Given the description of an element on the screen output the (x, y) to click on. 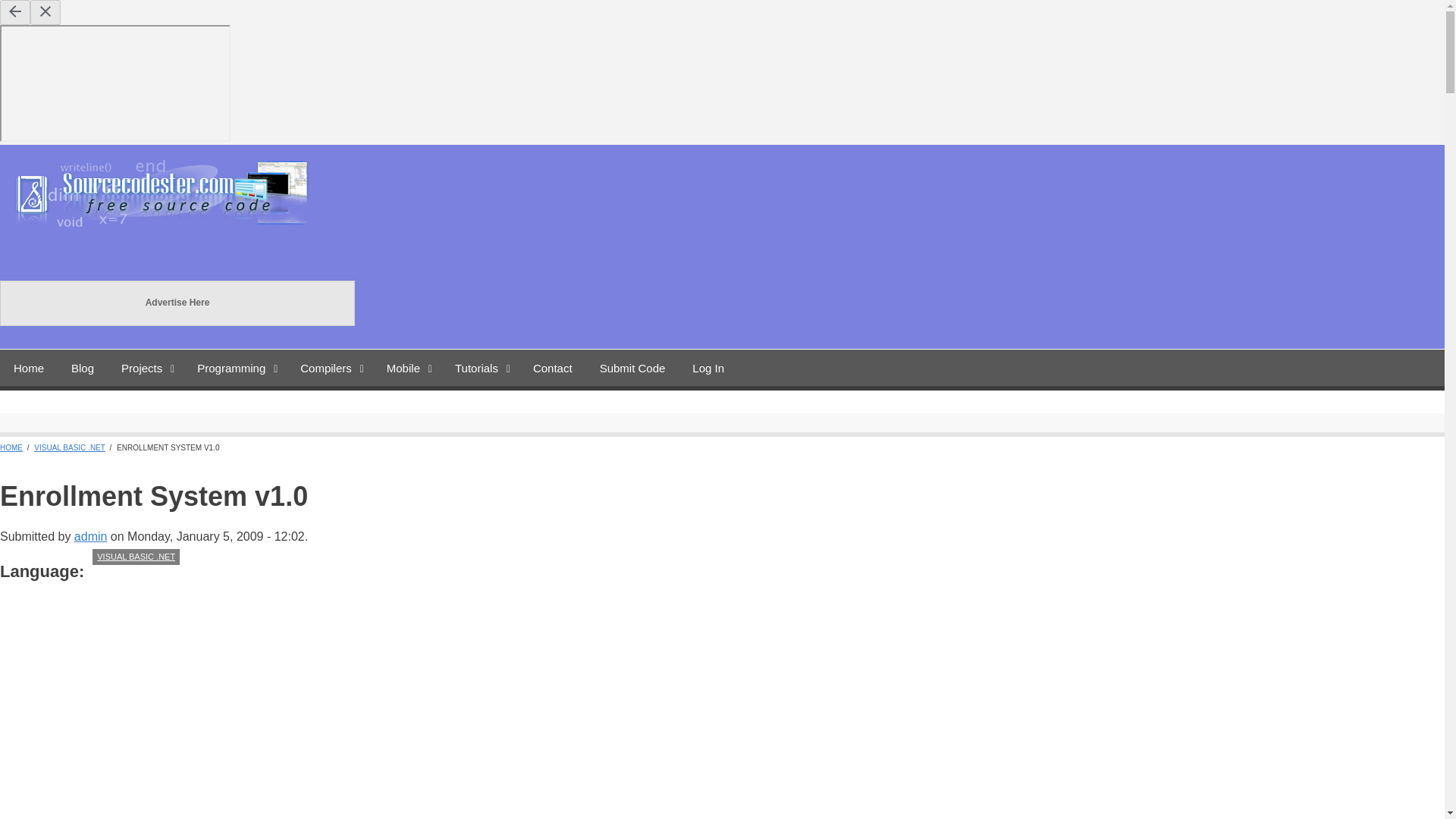
Projects (145, 367)
Home (29, 367)
Mobile (406, 367)
Blog (82, 367)
Advertisement (227, 721)
Compilers (329, 367)
Home (170, 228)
View user profile. (90, 535)
Tutorials (480, 367)
Programming (234, 367)
Advertise Here (177, 302)
